Given the description of an element on the screen output the (x, y) to click on. 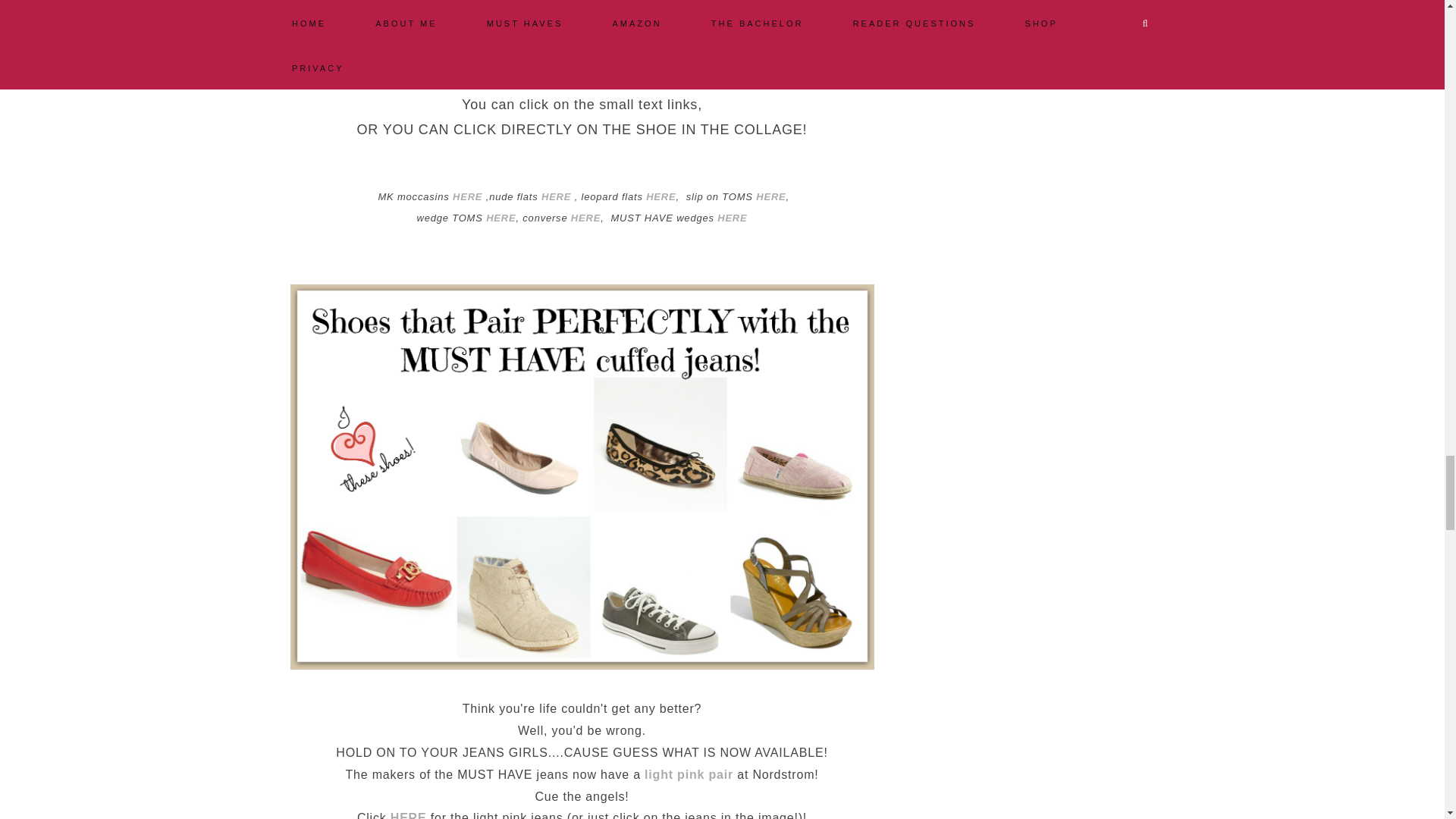
HERE (466, 196)
HERE (555, 196)
HERE (500, 217)
HERE (770, 196)
HERE (660, 196)
